Given the description of an element on the screen output the (x, y) to click on. 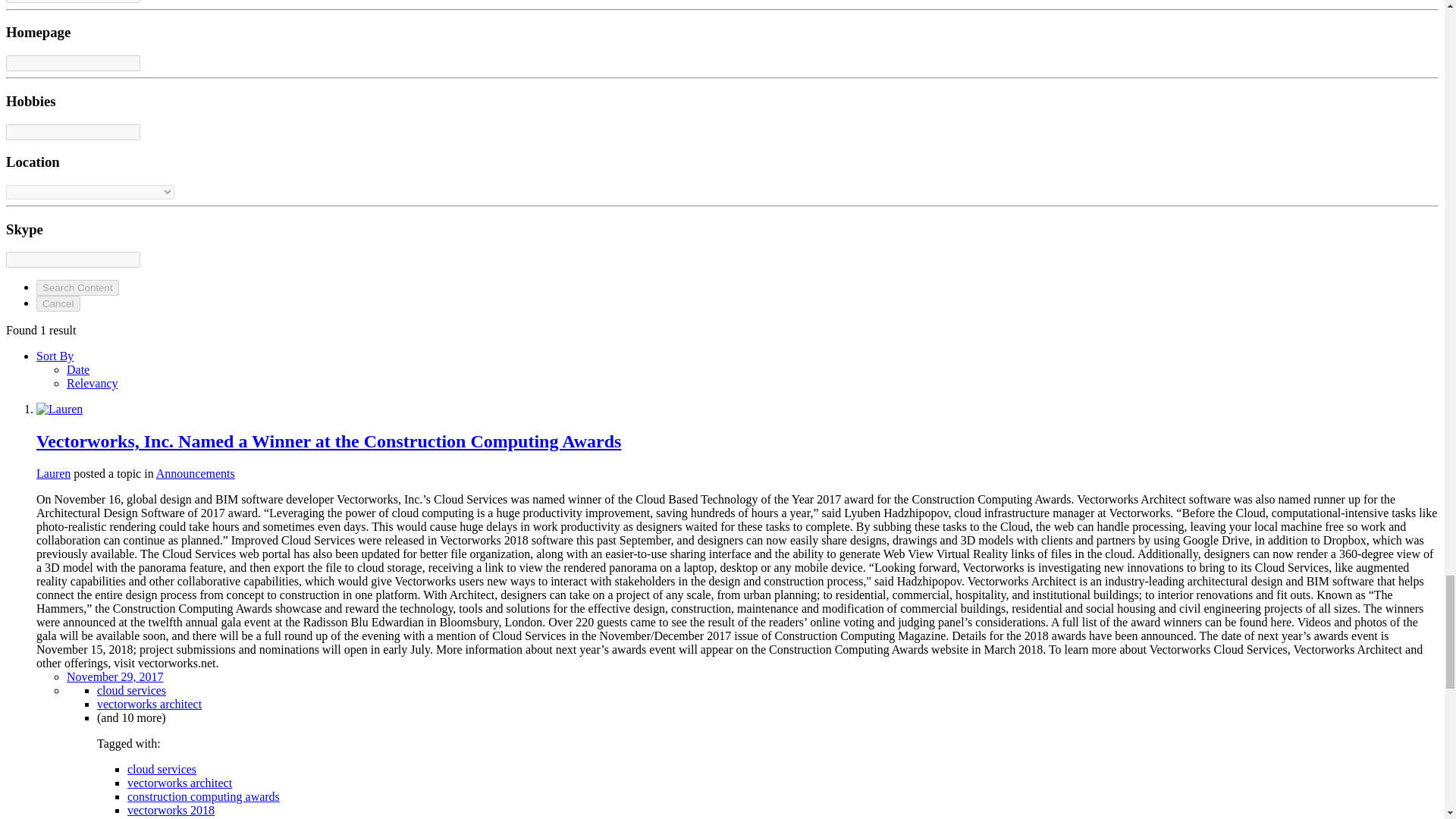
Find other content tagged with 'cloud services' (162, 768)
Find other content tagged with 'vectorworks architect' (149, 703)
Find other content tagged with 'cloud services' (131, 689)
Find other content tagged with 'vectorworks architect' (179, 782)
Find other content tagged with 'vectorworks 2018' (171, 809)
Go to Lauren's profile (52, 472)
Go to Lauren's profile (59, 408)
